Given the description of an element on the screen output the (x, y) to click on. 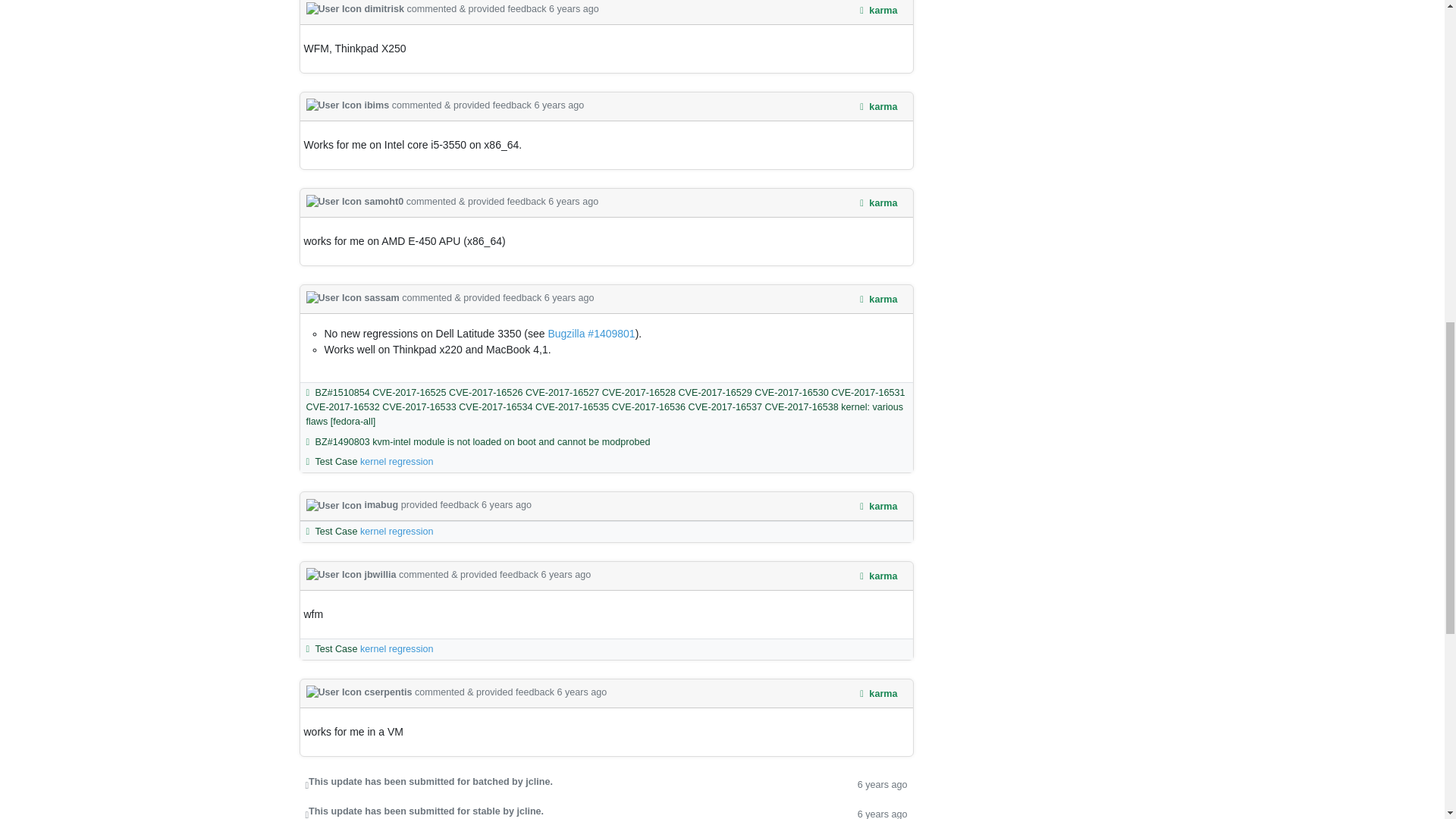
samoht0 (355, 201)
sassam (354, 297)
6 years ago (573, 201)
kernel regression (396, 531)
6 years ago (573, 9)
6 years ago (566, 574)
6 years ago (506, 504)
ibims (348, 104)
imabug (353, 504)
6 years ago (558, 104)
jbwillia (351, 574)
6 years ago (569, 297)
kernel regression (396, 461)
dimitrisk (356, 9)
